Given the description of an element on the screen output the (x, y) to click on. 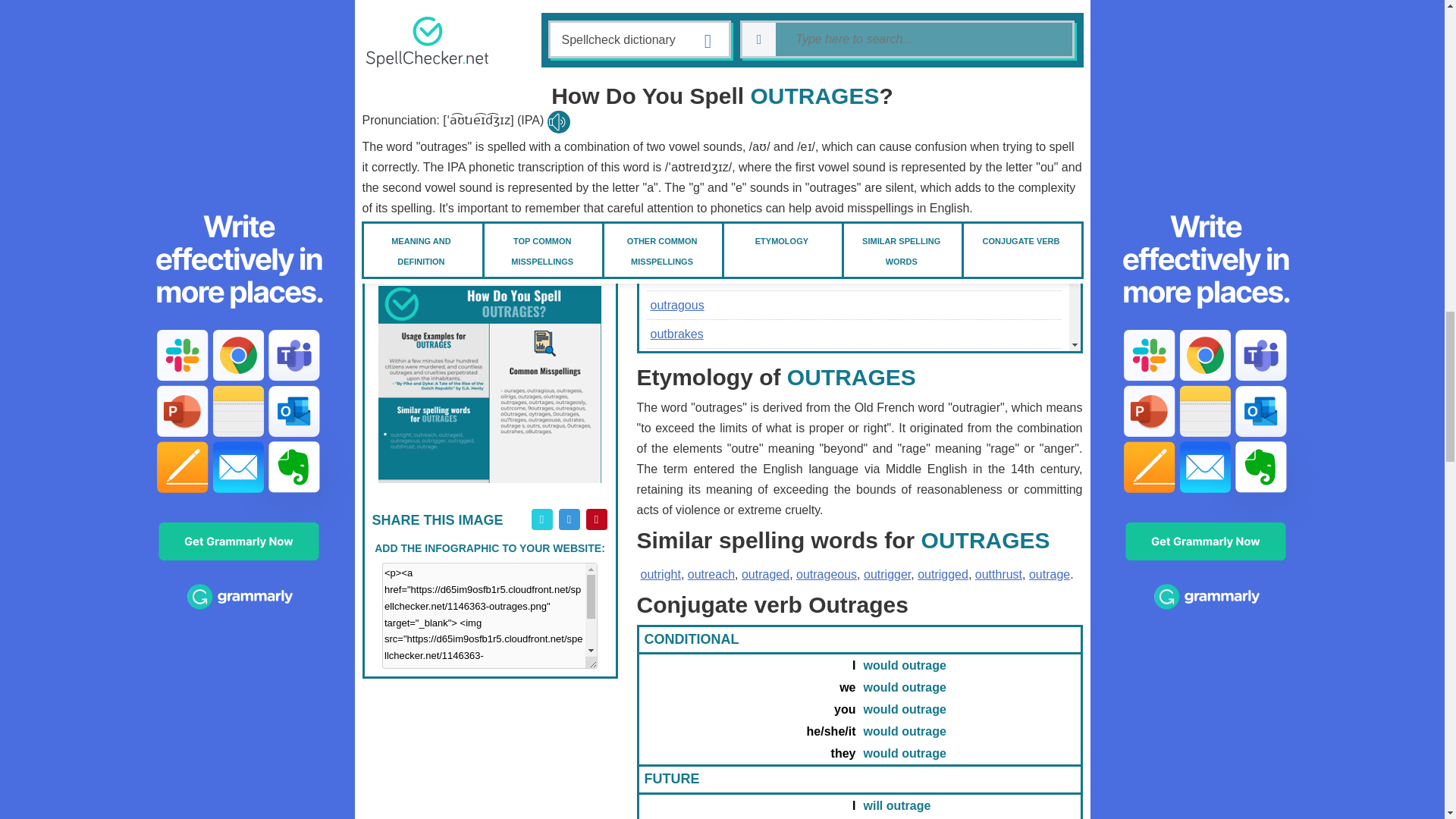
outram (489, 160)
outraguse (677, 160)
outraise (489, 129)
outrance (489, 223)
outrageousness (489, 35)
outraging (489, 97)
outran (489, 192)
outrageously (489, 9)
